Given the description of an element on the screen output the (x, y) to click on. 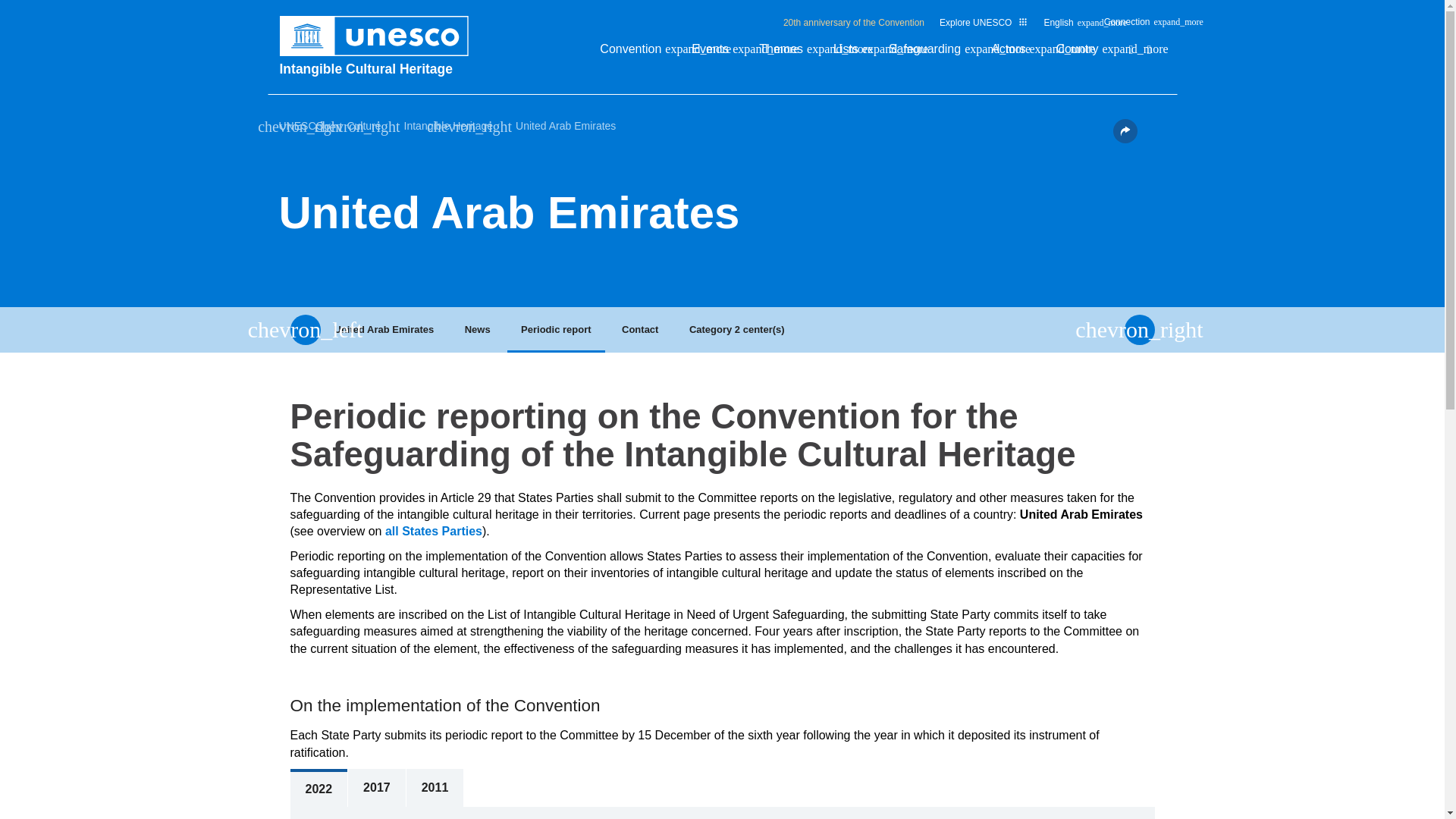
English (1065, 26)
Convention (638, 52)
Intangible Cultural Heritage (381, 68)
Convention (638, 52)
English (1065, 26)
Periodic report (556, 329)
20th anniversary of the Convention (853, 22)
Lists (852, 52)
Events (717, 52)
Themes (788, 52)
